Given the description of an element on the screen output the (x, y) to click on. 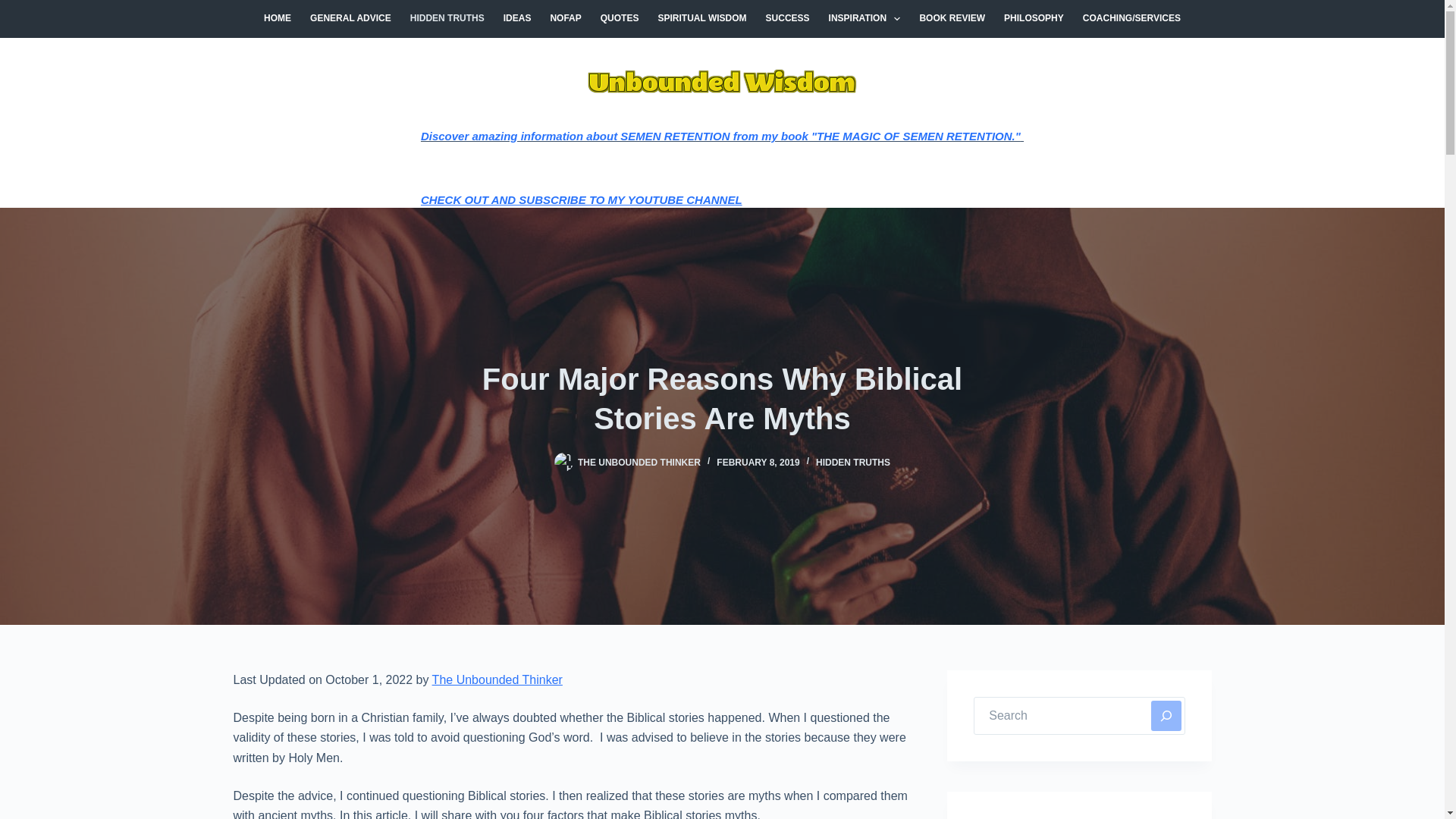
GENERAL ADVICE (351, 18)
NOFAP (565, 18)
PHILOSOPHY (1034, 18)
Four Major Reasons Why Biblical Stories Are Myths (722, 398)
HOME (277, 18)
CHECK OUT AND SUBSCRIBE TO MY YOUTUBE CHANNEL (581, 199)
IDEAS (516, 18)
INSPIRATION (864, 18)
BOOK REVIEW (952, 18)
